Given the description of an element on the screen output the (x, y) to click on. 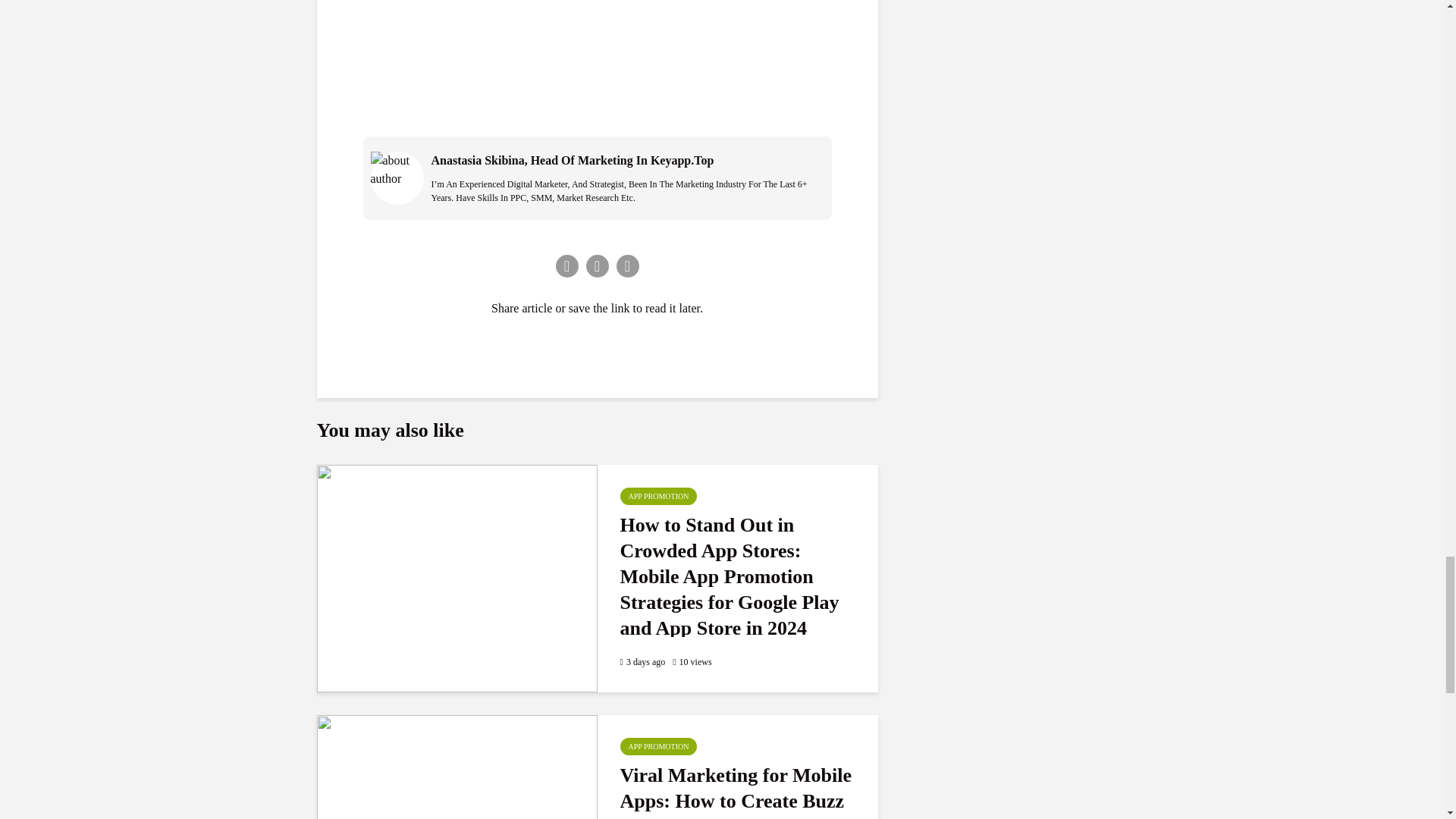
facebook (566, 265)
skype (596, 265)
telegram (627, 265)
